Given the description of an element on the screen output the (x, y) to click on. 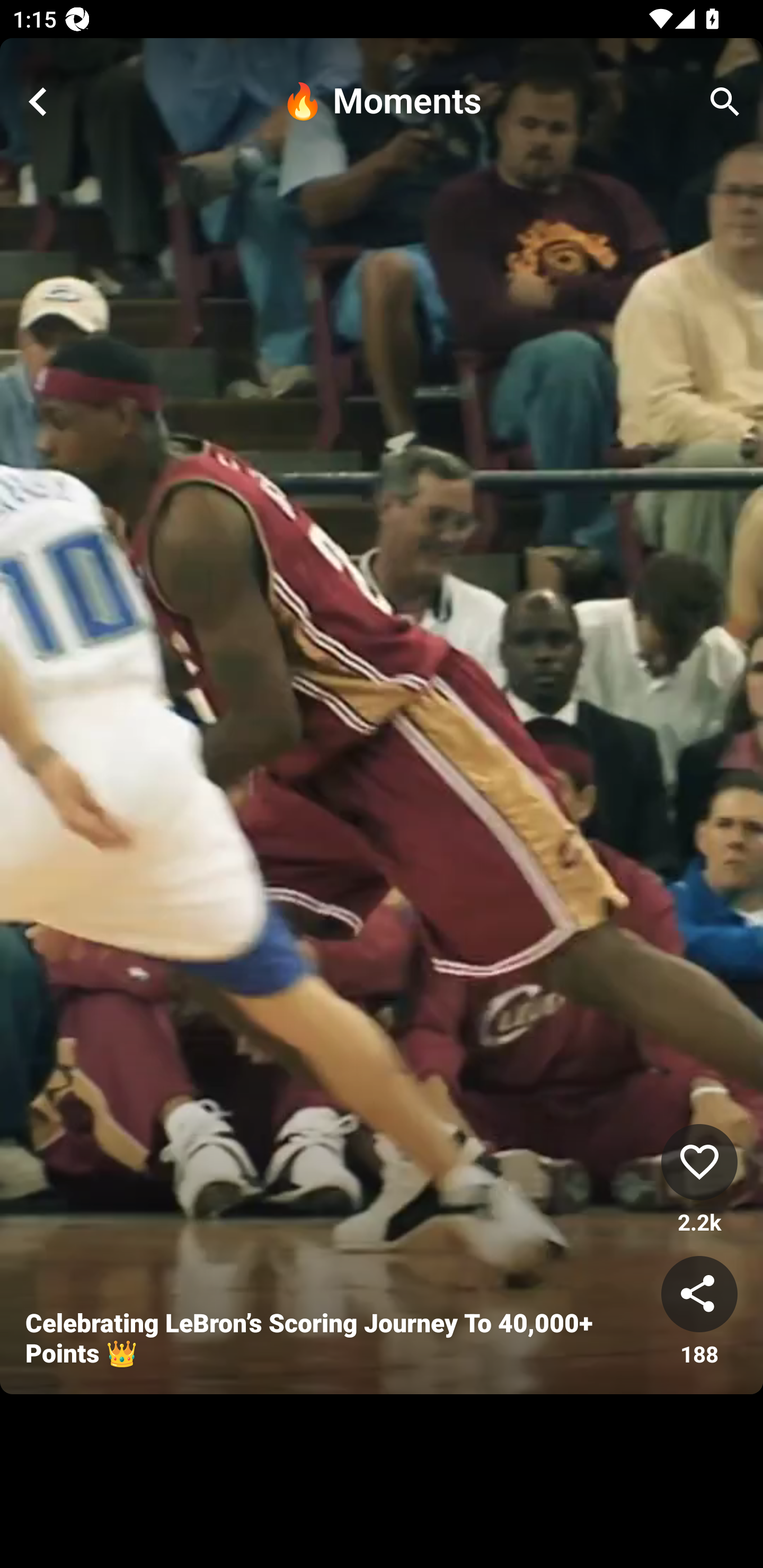
close (38, 101)
search (724, 101)
like 2.2k 2174 Likes (699, 1180)
share 188 188 Shares (699, 1311)
